Given the description of an element on the screen output the (x, y) to click on. 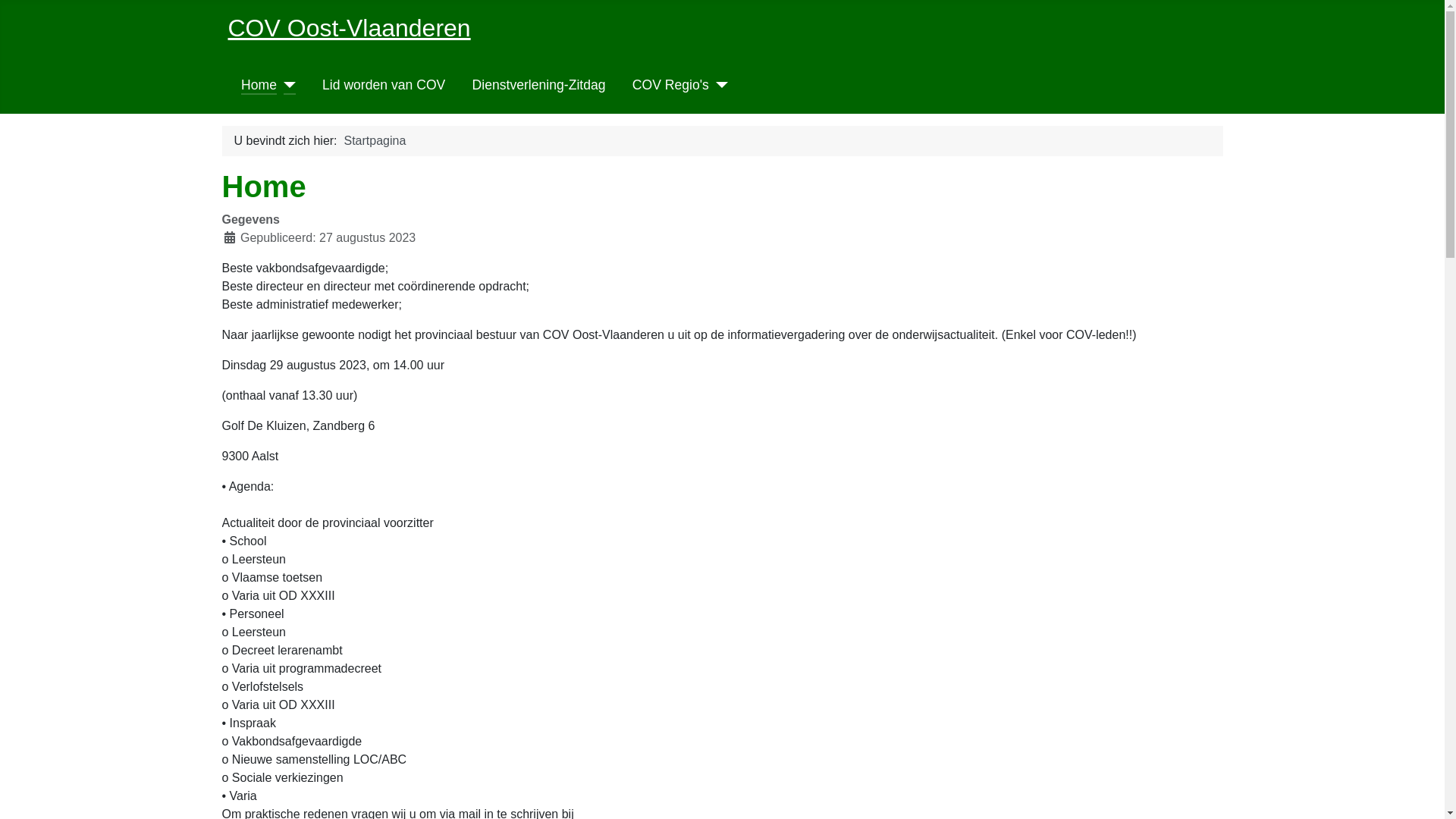
Dienstverlening-Zitdag Element type: text (538, 84)
Lid worden van COV Element type: text (383, 84)
Home Element type: text (258, 84)
COV Oost-Vlaanderen Element type: text (348, 27)
COV Regio's Element type: text (670, 84)
